Given the description of an element on the screen output the (x, y) to click on. 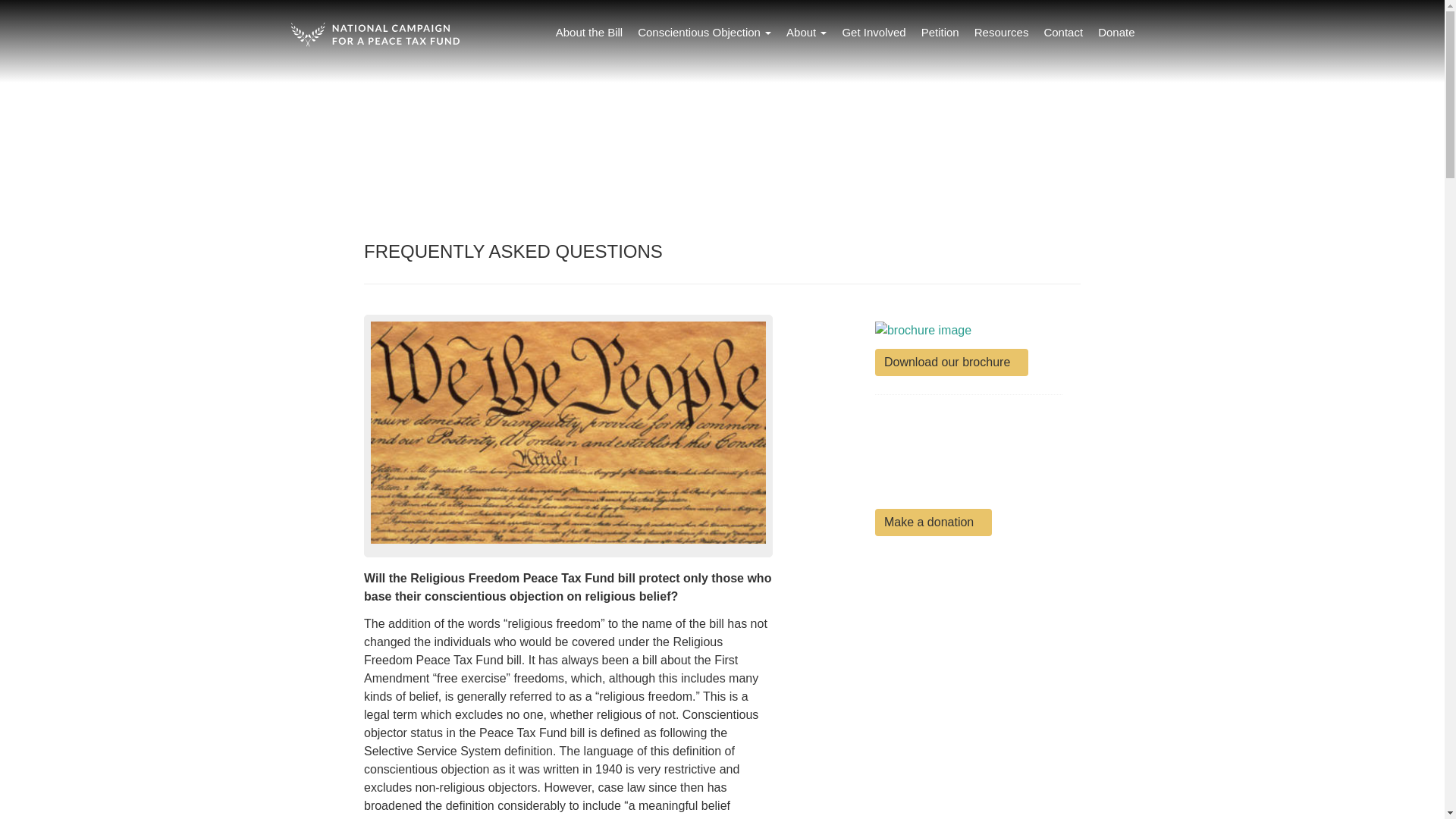
Conscientious Objection (704, 32)
Resources (1001, 32)
Contact (1062, 32)
About the Bill (589, 32)
Get Involved (873, 32)
Petition (940, 32)
US Constitution cropped image (568, 432)
About the Bill (589, 32)
Donate (1115, 32)
Make a donation (933, 522)
